Given the description of an element on the screen output the (x, y) to click on. 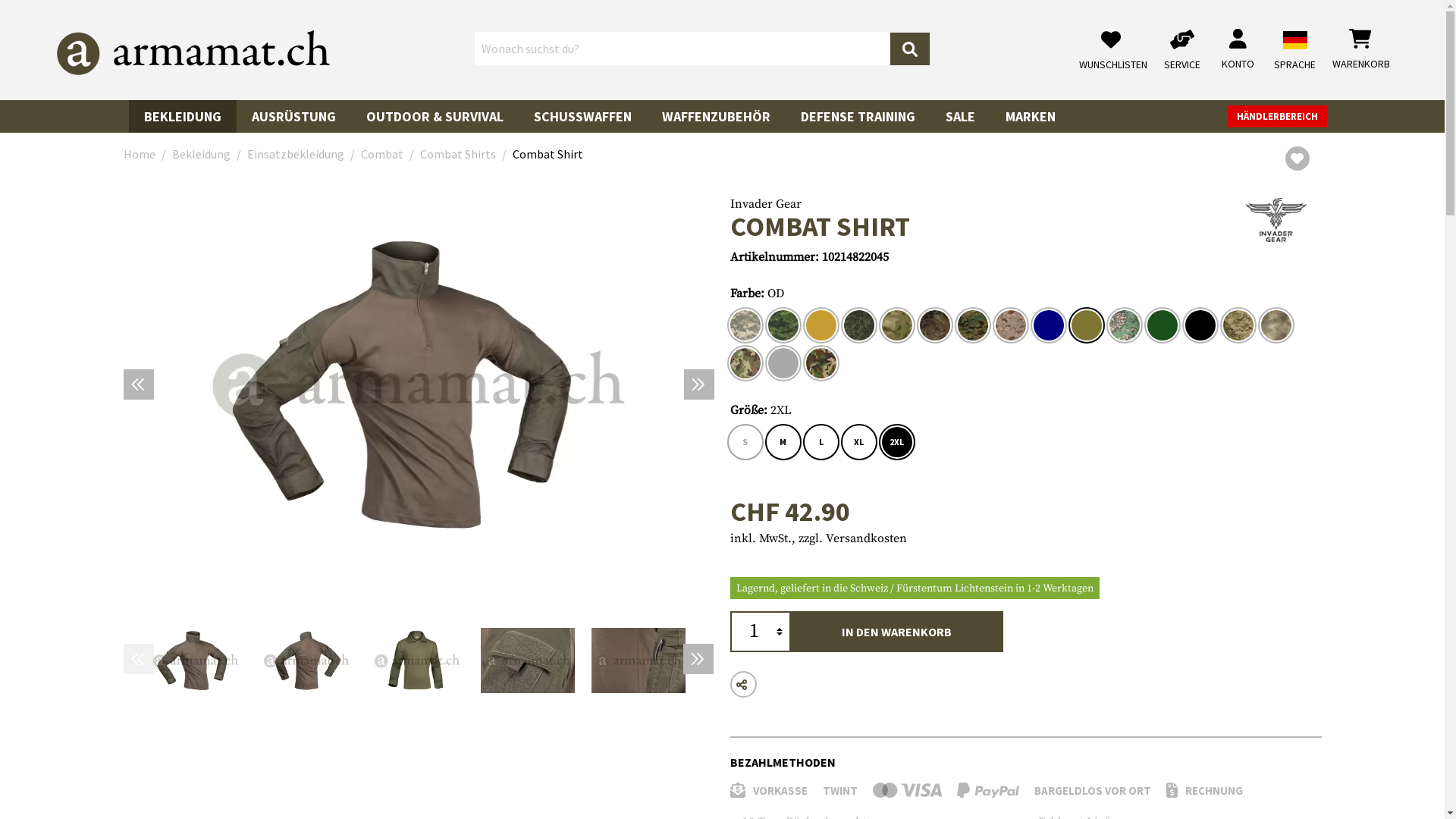
Invader Gear Combat Shirt Element type: hover (195, 660)
ACU Element type: hover (744, 325)
KONTO Element type: text (1237, 49)
IN DEN WARENKORB Element type: text (896, 631)
Invader Gear Element type: hover (1275, 219)
Ranger Green Element type: hover (1161, 325)
Partizan Element type: hover (1123, 325)
OUTDOOR & SURVIVAL Element type: text (434, 111)
Socom Element type: hover (1237, 325)
Schwarz Element type: hover (1199, 325)
Combat Shirts Element type: text (457, 153)
DE
SPRACHE Element type: text (1294, 42)
SALE Element type: text (960, 111)
SERVICE Element type: text (1185, 50)
Invader Gear Element type: text (764, 203)
Invader Gear Combat Shirt Element type: hover (638, 660)
WUNSCHLISTEN Element type: text (1116, 50)
Vegetato Element type: hover (744, 363)
BEKLEIDUNG Element type: text (182, 111)
Marpat Desert Element type: hover (1009, 325)
Wolf Grey Element type: hover (782, 363)
Deutsch Element type: hover (1295, 40)
Everglade Element type: hover (896, 325)
Invader Gear Combat Shirt Element type: hover (418, 384)
SCHUSSWAFFEN Element type: text (582, 111)
Combat Element type: text (381, 153)
Invader Gear Combat Shirt Element type: hover (527, 660)
Home Element type: text (138, 153)
Digital Flora Element type: hover (858, 325)
Invader Gear Combat Shirt Element type: hover (306, 660)
Navy Element type: hover (1047, 325)
Woodland Element type: hover (820, 363)
Zur Startseite wechseln Element type: hover (192, 52)
Coyote Element type: hover (820, 325)
Einsatzbekleidung Element type: text (295, 153)
inkl. MwSt., zzgl. Versandkosten Element type: text (817, 538)
WARENKORB Element type: text (1361, 49)
DEFENSE TRAINING Element type: text (857, 111)
Invader Gear Element type: hover (1275, 218)
Marpat Element type: hover (972, 325)
Bekleidung Element type: text (200, 153)
OD Element type: hover (1085, 325)
Stone Desert Element type: hover (1275, 325)
Flecktarn Element type: hover (934, 325)
MARKEN Element type: text (1030, 111)
Invader Gear Combat Shirt Element type: hover (417, 660)
CAD Element type: hover (782, 325)
